Given the description of an element on the screen output the (x, y) to click on. 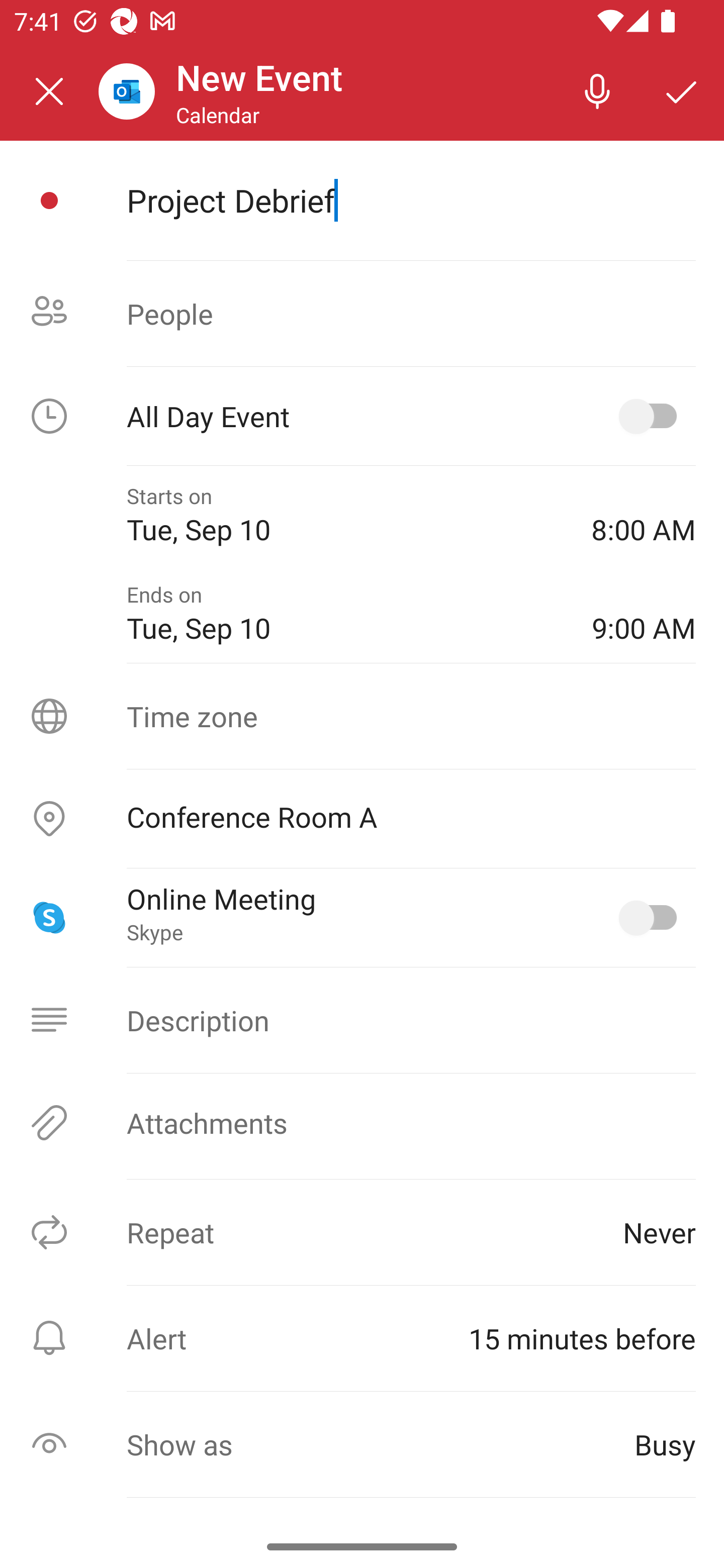
Close (49, 91)
Save (681, 90)
Project Debrief (410, 200)
Event icon picker (48, 200)
People (362, 313)
All Day Event (362, 415)
Starts on Tue, Sep 10 (344, 514)
8:00 AM (643, 514)
Ends on Tue, Sep 10 (344, 613)
9:00 AM (643, 613)
Time zone (362, 715)
Location, Conference Room A Conference Room A (362, 818)
Online Meeting, Skype selected (651, 917)
Description (362, 1019)
Attachments (362, 1122)
Repeat Never (362, 1232)
Alert ⁨15 minutes before (362, 1337)
Show as Busy (362, 1444)
